Given the description of an element on the screen output the (x, y) to click on. 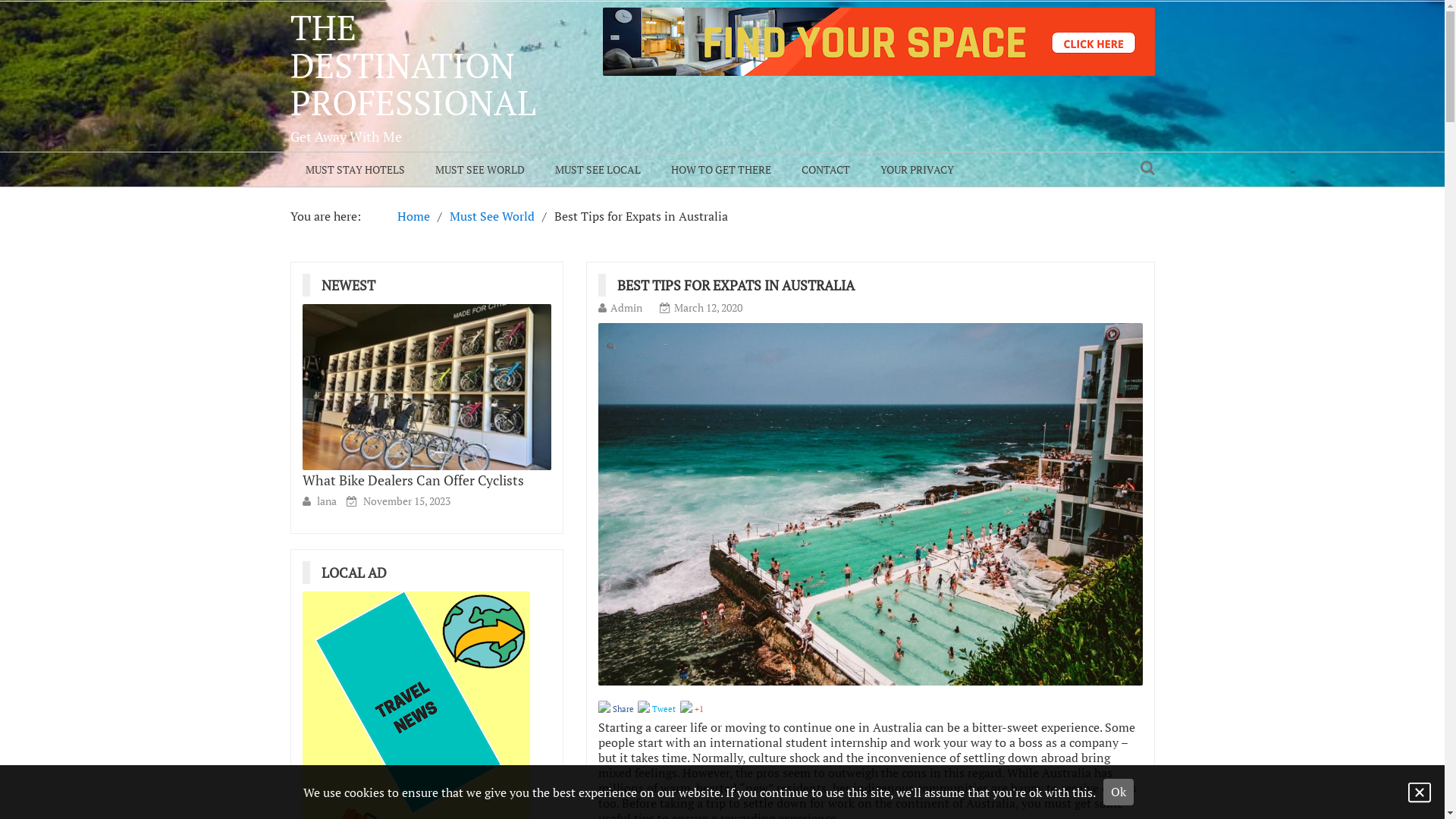
MUST SEE LOCAL Element type: text (597, 169)
What Bike Dealers Can Offer Cyclists Element type: text (412, 479)
Home Element type: text (413, 215)
+1 Element type: text (691, 708)
NEWEST Element type: text (353, 285)
YOUR PRIVACY Element type: text (916, 169)
BEST TIPS FOR EXPATS IN AUSTRALIA Element type: text (741, 285)
Must See World Element type: text (490, 215)
Share Element type: text (615, 708)
lana Element type: text (326, 500)
Tweet Element type: text (656, 708)
CONTACT Element type: text (824, 169)
THE DESTINATION PROFESSIONAL Element type: text (412, 64)
Ok Element type: text (1118, 791)
LOCAL AD Element type: text (359, 572)
Admin Element type: text (625, 307)
MUST STAY HOTELS Element type: text (354, 169)
MUST SEE WORLD Element type: text (479, 169)
HOW TO GET THERE Element type: text (720, 169)
